Given the description of an element on the screen output the (x, y) to click on. 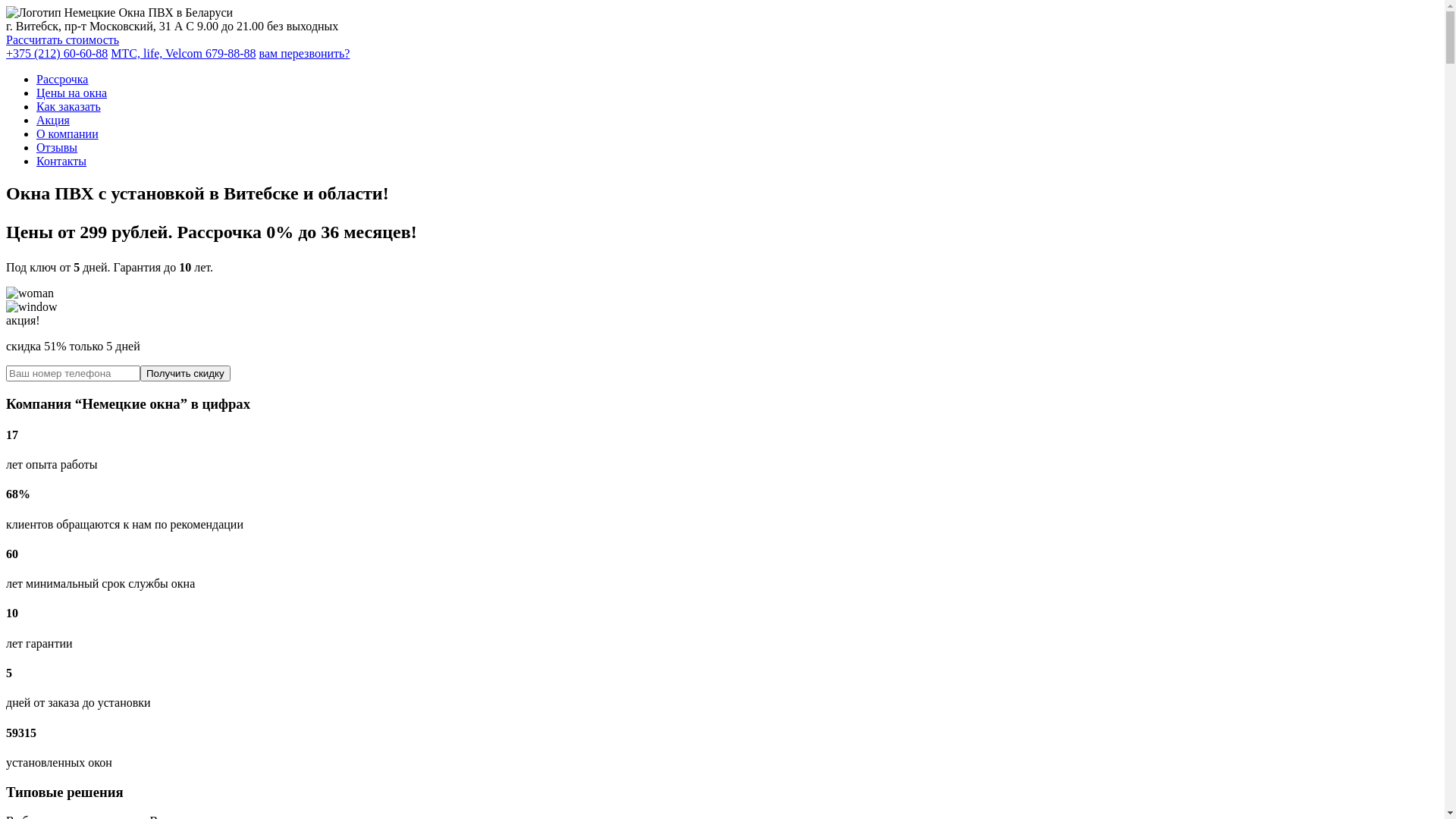
MTC, life, Velcom 679-88-88 Element type: text (182, 53)
+375 (212) 60-60-88 Element type: text (56, 53)
